Given the description of an element on the screen output the (x, y) to click on. 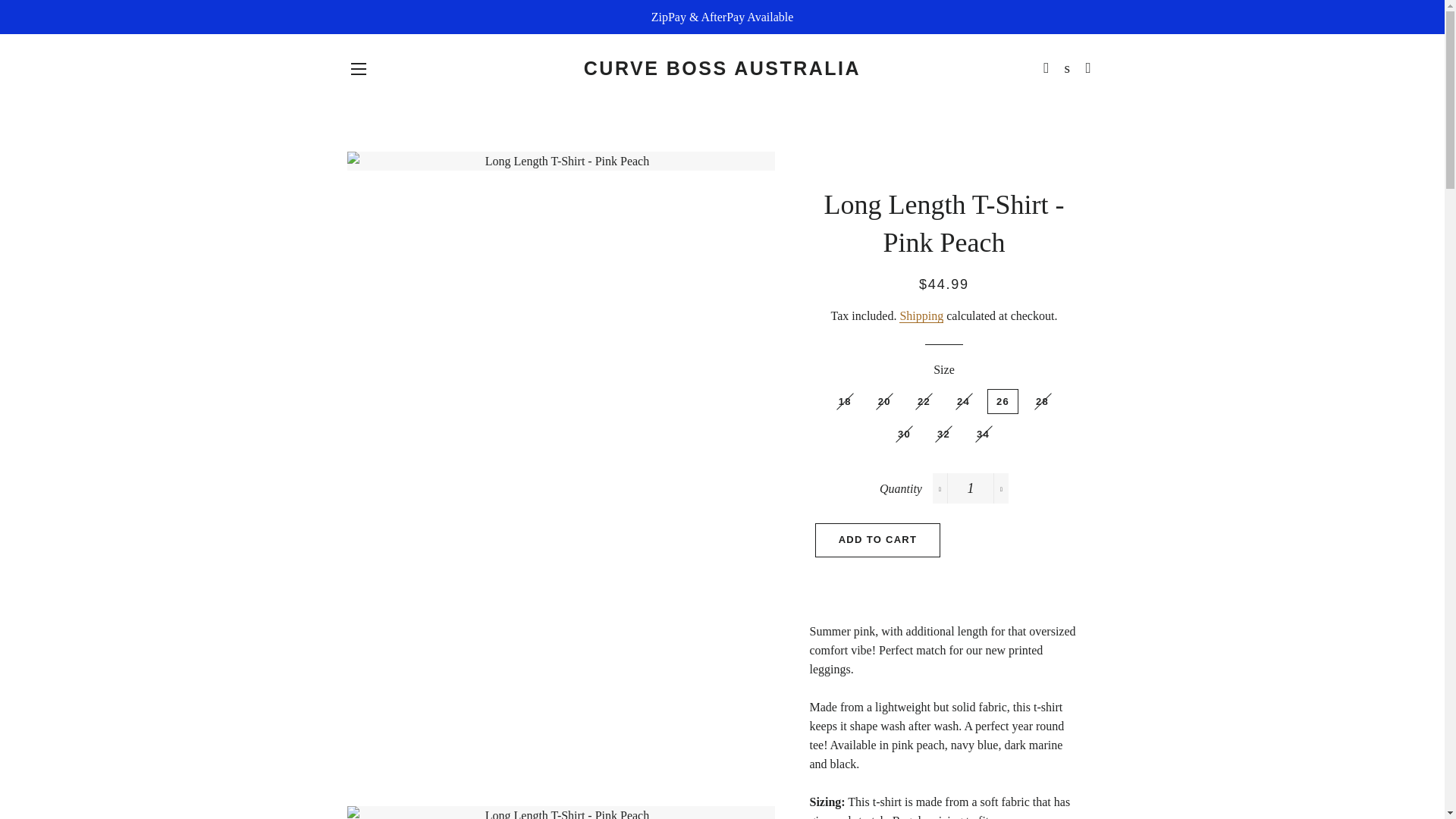
SITE NAVIGATION (358, 68)
CURVE BOSS AUSTRALIA (721, 68)
Shipping (921, 315)
1 (971, 488)
